Given the description of an element on the screen output the (x, y) to click on. 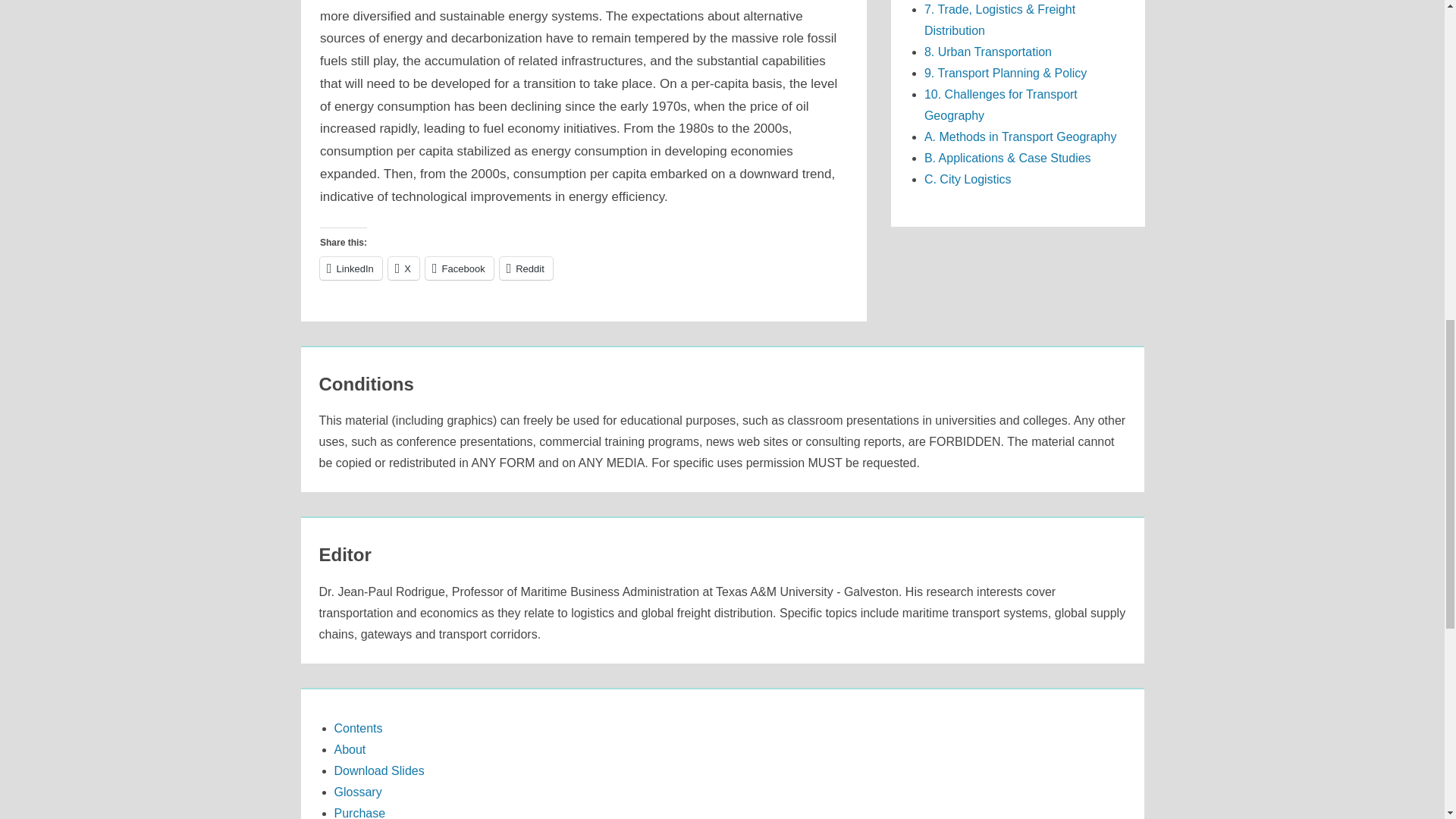
Facebook (459, 268)
Click to share on X (403, 268)
Reddit (526, 268)
Click to share on Facebook (459, 268)
X (403, 268)
Click to share on Reddit (526, 268)
Click to share on LinkedIn (350, 268)
LinkedIn (350, 268)
